Given the description of an element on the screen output the (x, y) to click on. 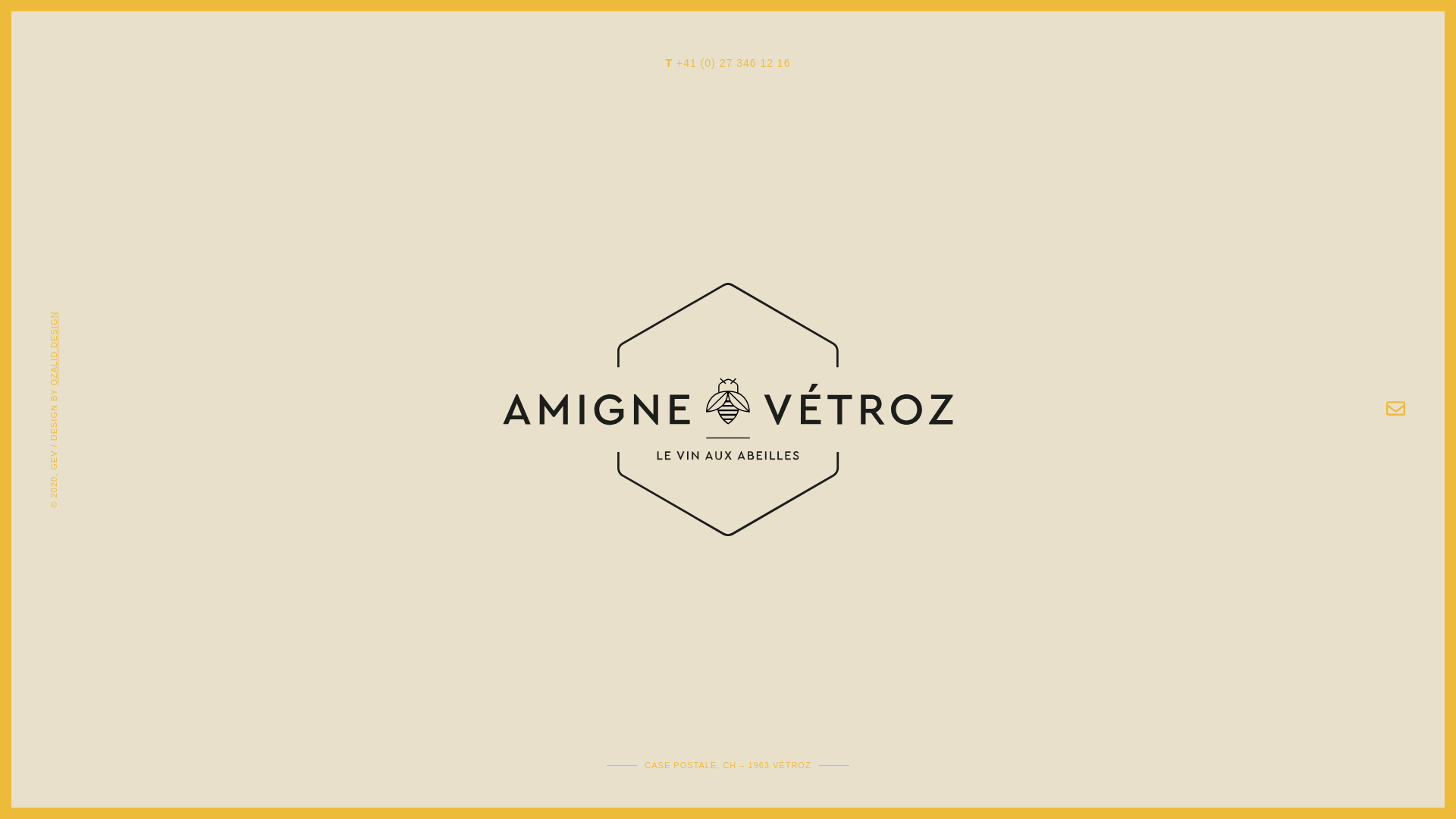
OZALID DESIGN Element type: text (86, 315)
